Given the description of an element on the screen output the (x, y) to click on. 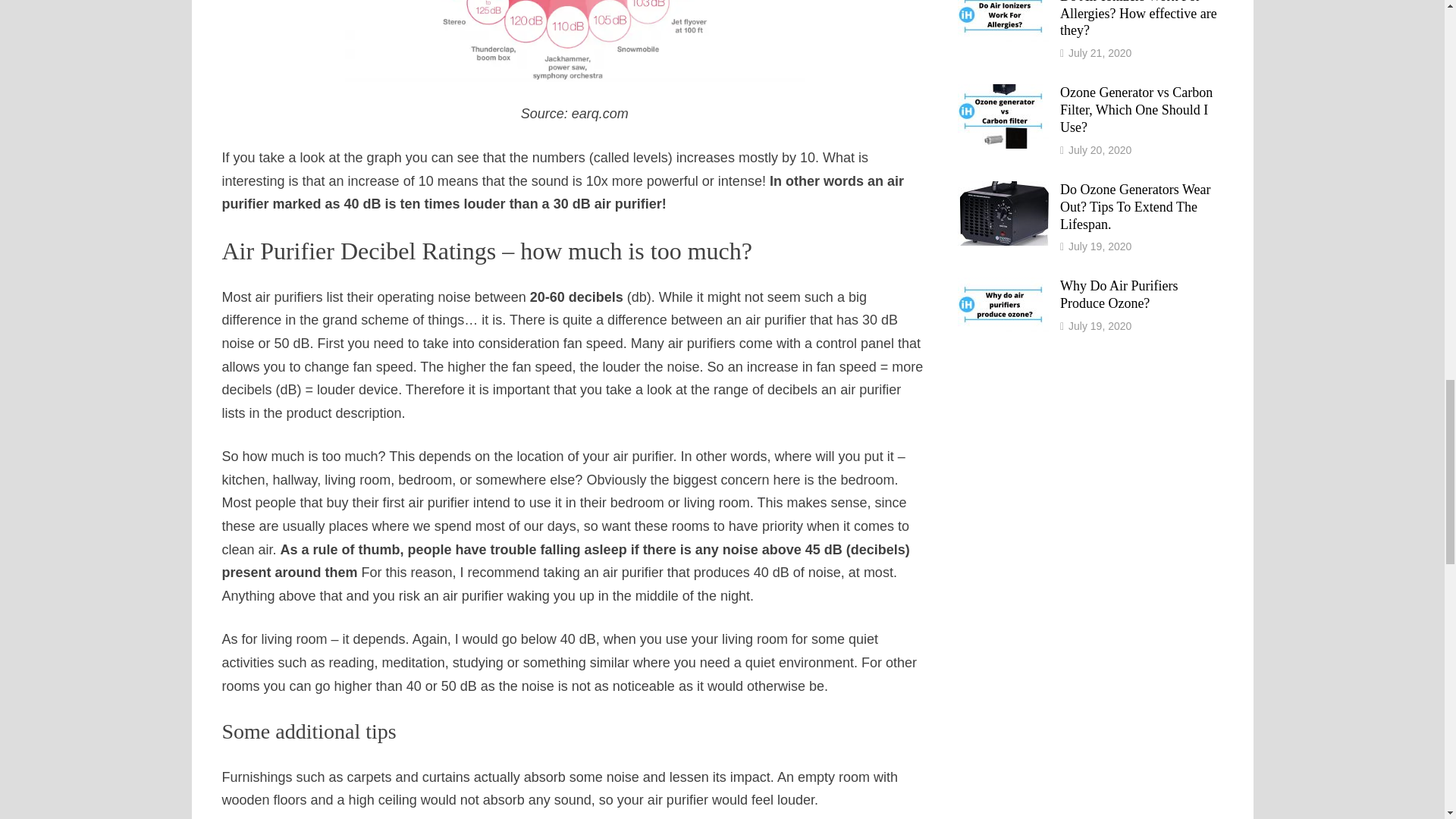
Do Air Ionizers Work For Allergies? How effective are they? (1003, 2)
